Given the description of an element on the screen output the (x, y) to click on. 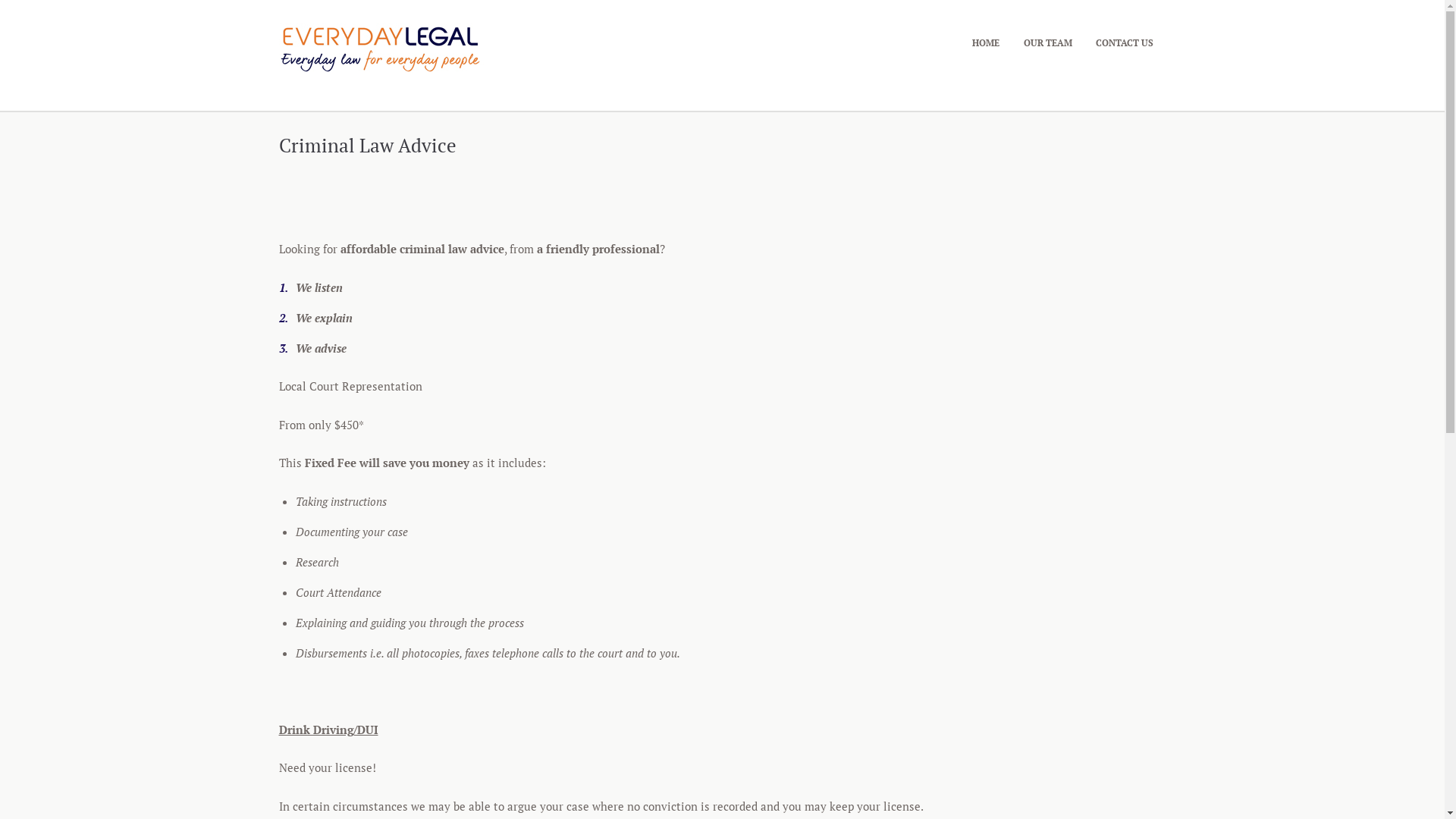
HOME Element type: text (985, 42)
CONTACT US Element type: text (1124, 42)
OUR TEAM Element type: text (1047, 42)
